Given the description of an element on the screen output the (x, y) to click on. 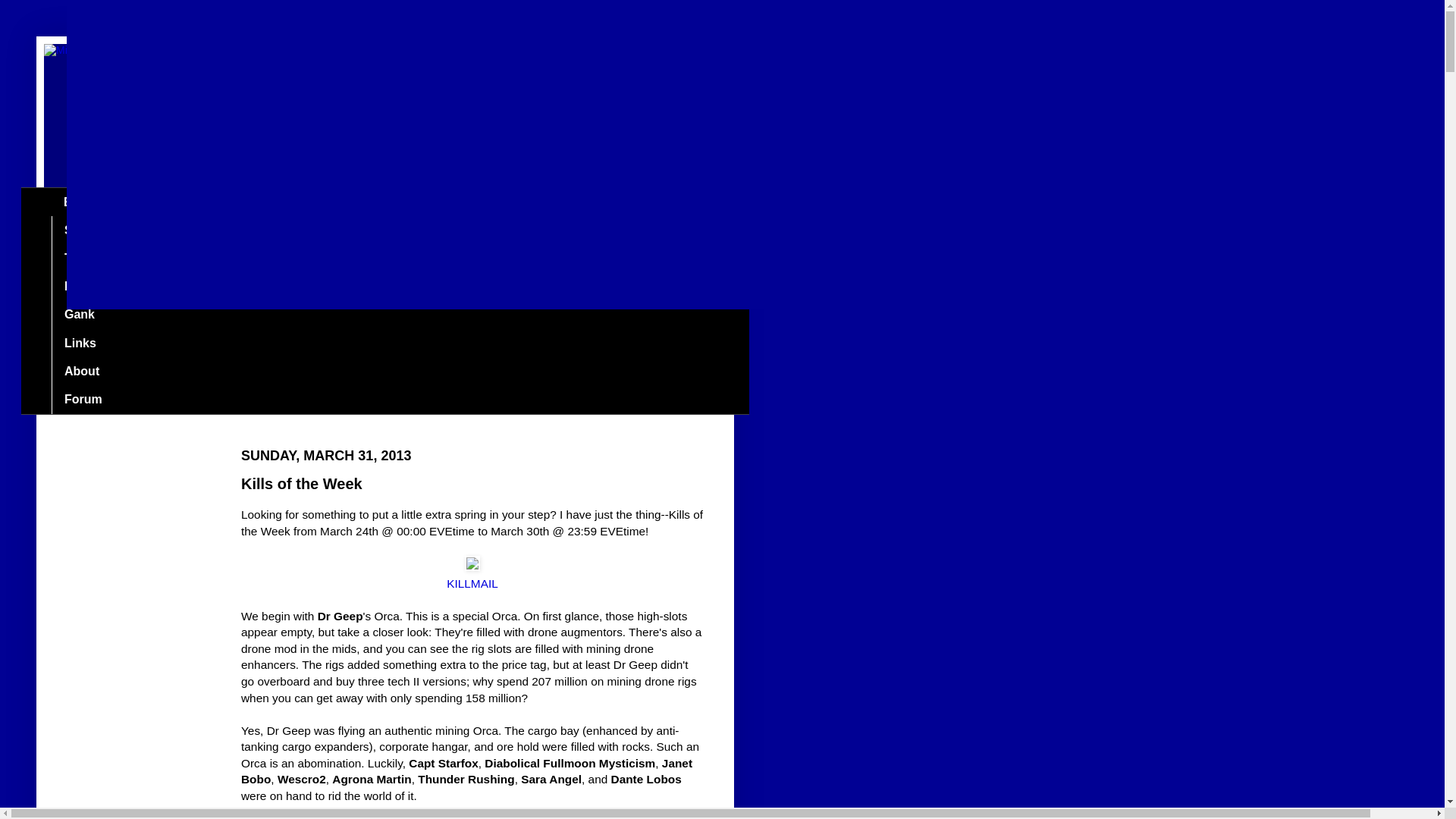
Forum (82, 398)
About (81, 370)
Links (78, 343)
BLOG (80, 202)
Shareholders (102, 230)
The Code (91, 257)
Gank (78, 315)
KILLMAIL (471, 583)
Become an Agent (114, 286)
